Given the description of an element on the screen output the (x, y) to click on. 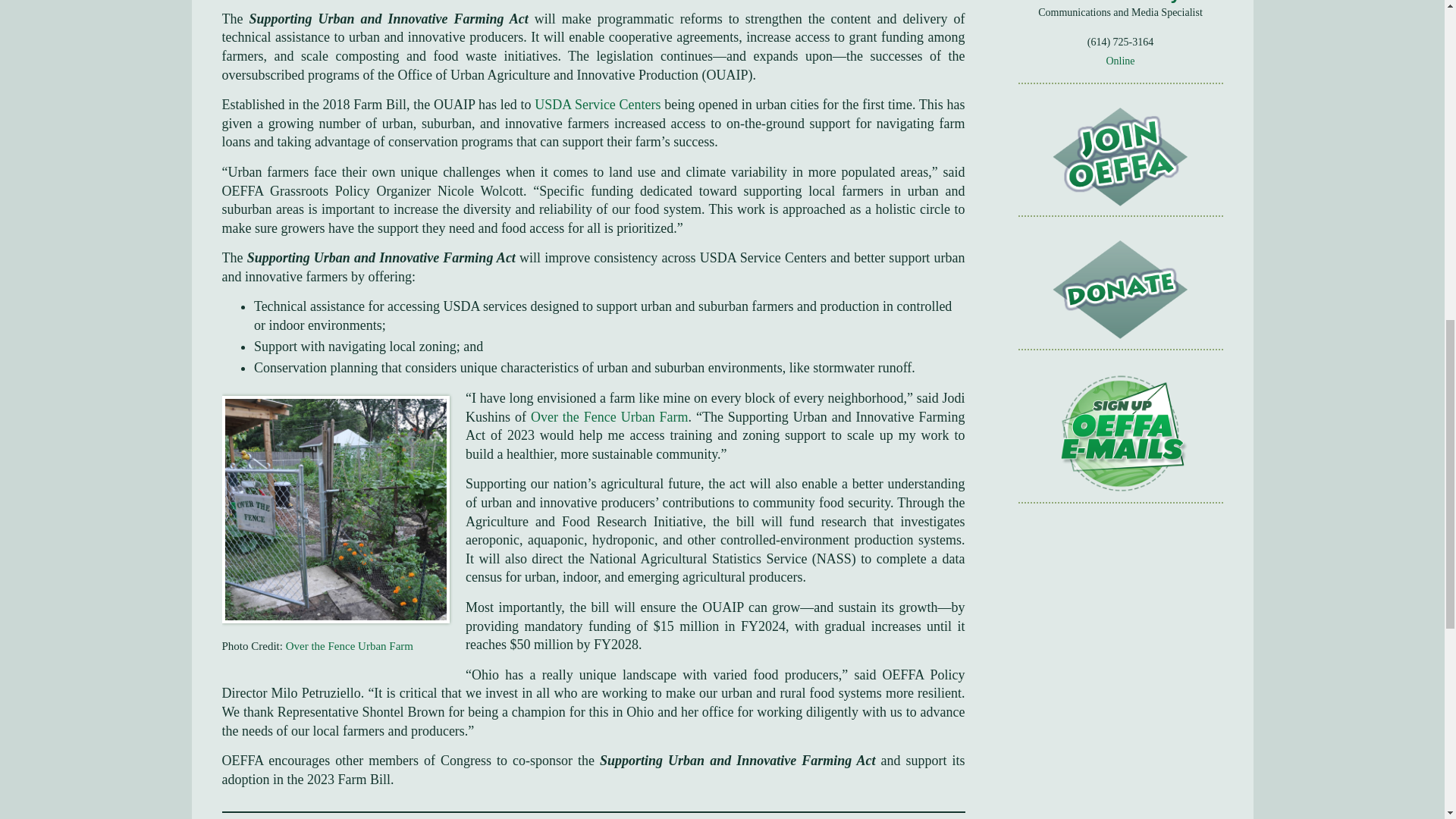
Donate to OEFFA (1120, 289)
OEFFA E-Mails (1120, 433)
Join OEFFA (1120, 157)
